Given the description of an element on the screen output the (x, y) to click on. 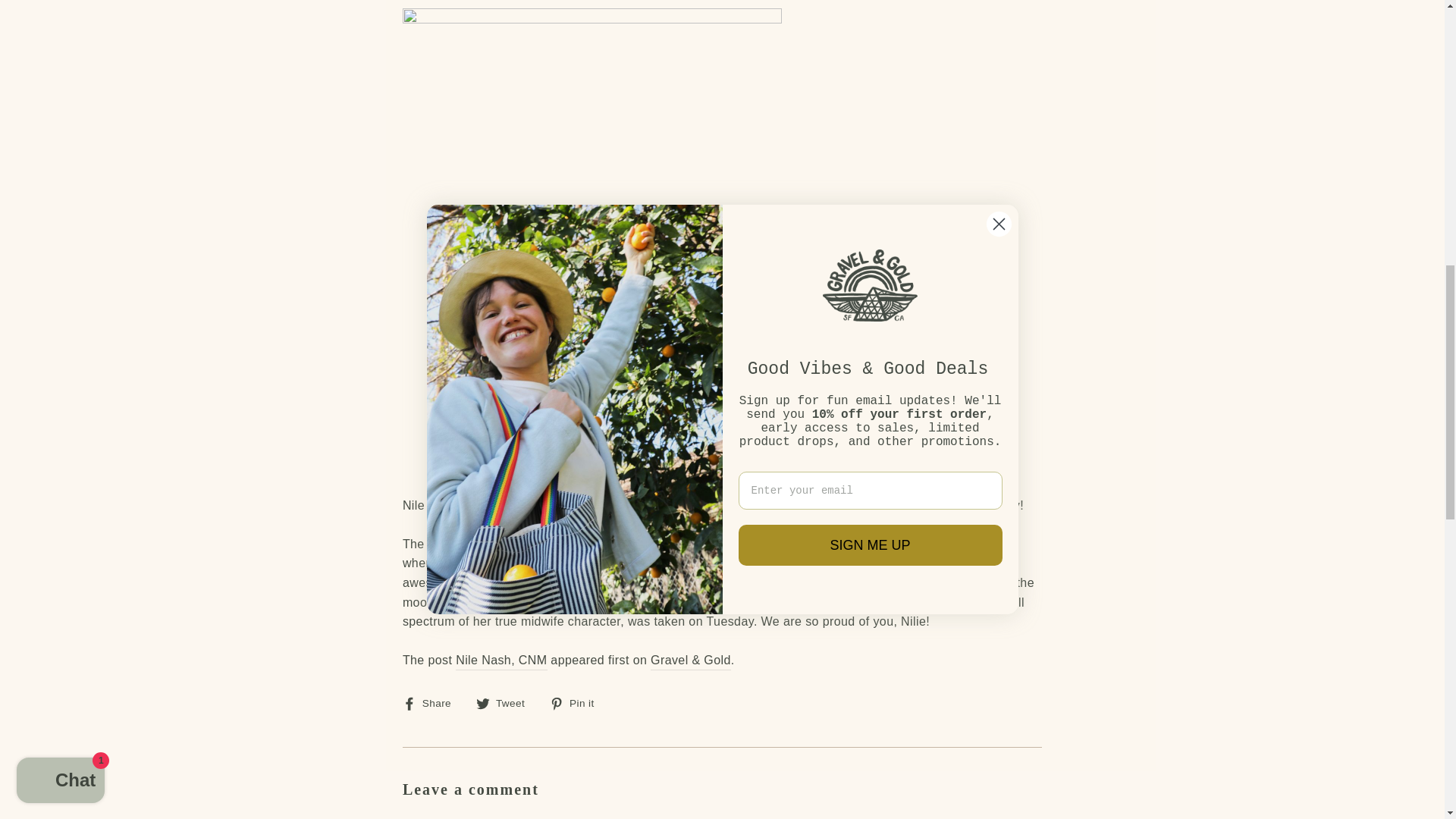
Tweet on Twitter (505, 702)
Share on Facebook (433, 702)
Pin on Pinterest (577, 702)
